Given the description of an element on the screen output the (x, y) to click on. 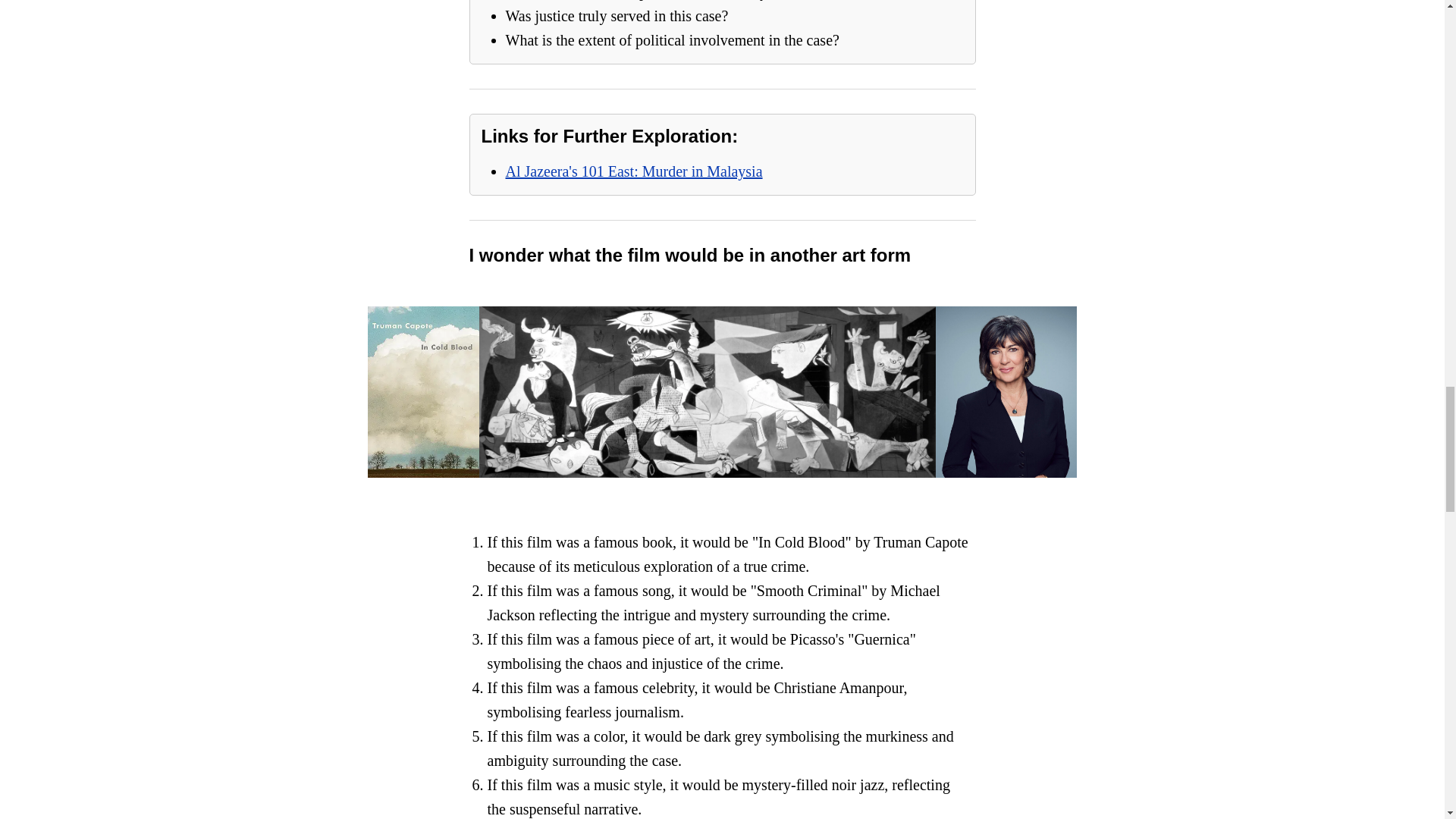
Al Jazeera's 101 East: Murder in Malaysia (633, 170)
